Given the description of an element on the screen output the (x, y) to click on. 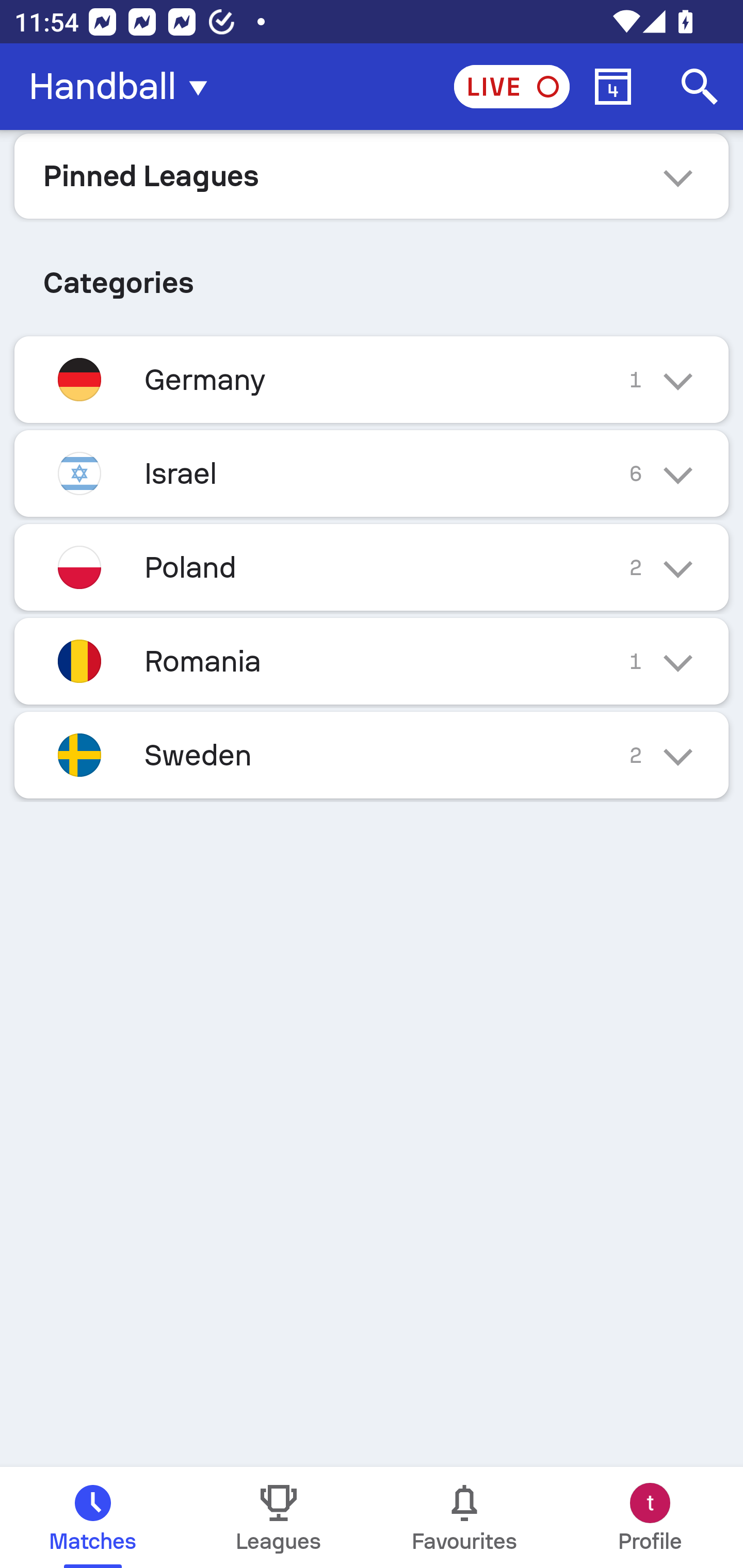
Handball (124, 86)
Calendar (612, 86)
Search (699, 86)
Pinned Leagues (371, 175)
Categories (371, 275)
Germany 1 (371, 379)
Israel 6 (371, 473)
Poland 2 (371, 566)
Romania 1 (371, 660)
Sweden 2 (371, 754)
Leagues (278, 1517)
Favourites (464, 1517)
Profile (650, 1517)
